Given the description of an element on the screen output the (x, y) to click on. 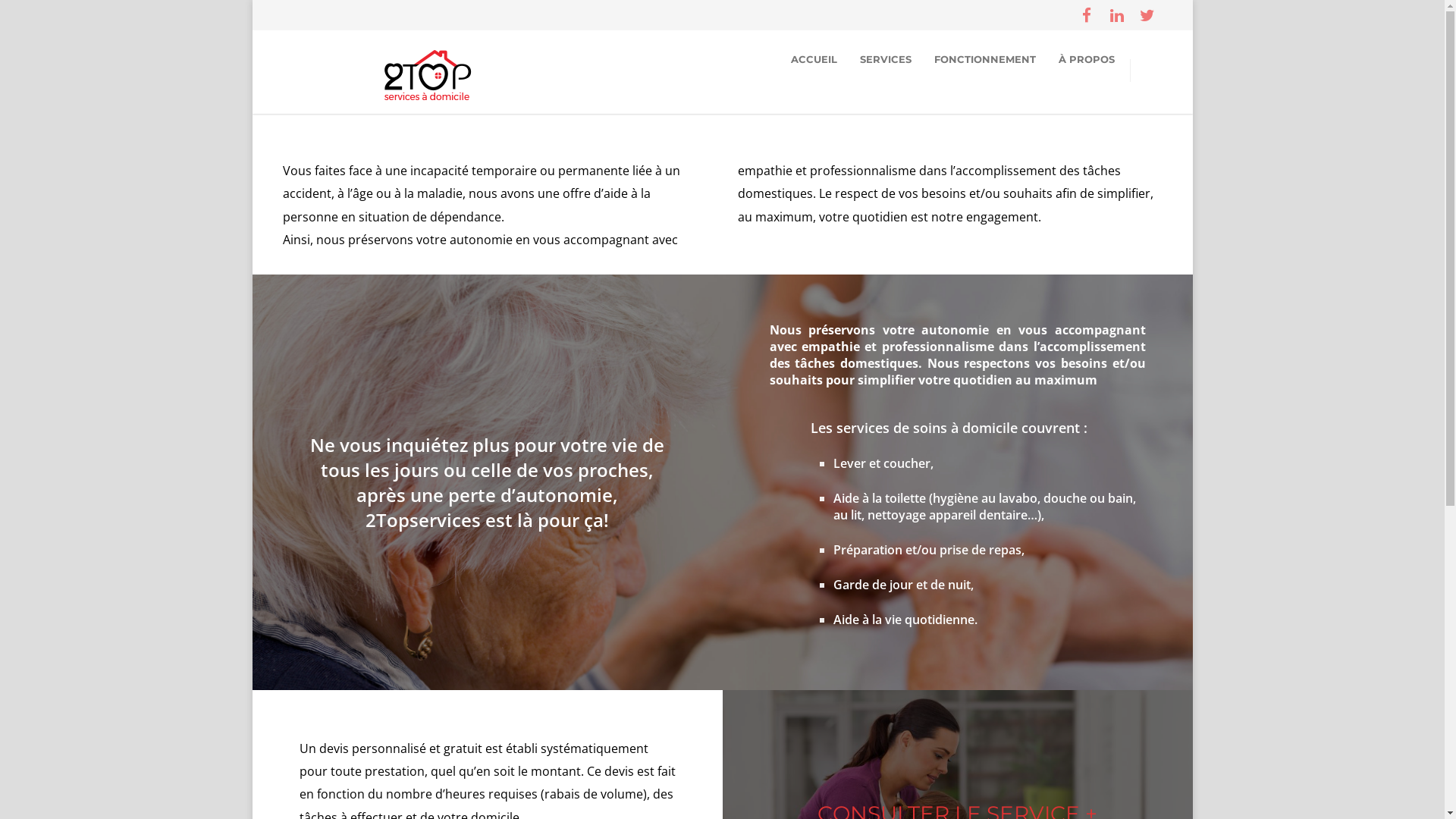
ACCUEIL Element type: text (813, 59)
Facebook Element type: hover (1085, 15)
FONCTIONNEMENT Element type: text (984, 59)
Twitter Element type: hover (1146, 15)
LinkedIn Element type: hover (1116, 15)
SERVICES Element type: text (884, 59)
